Given the description of an element on the screen output the (x, y) to click on. 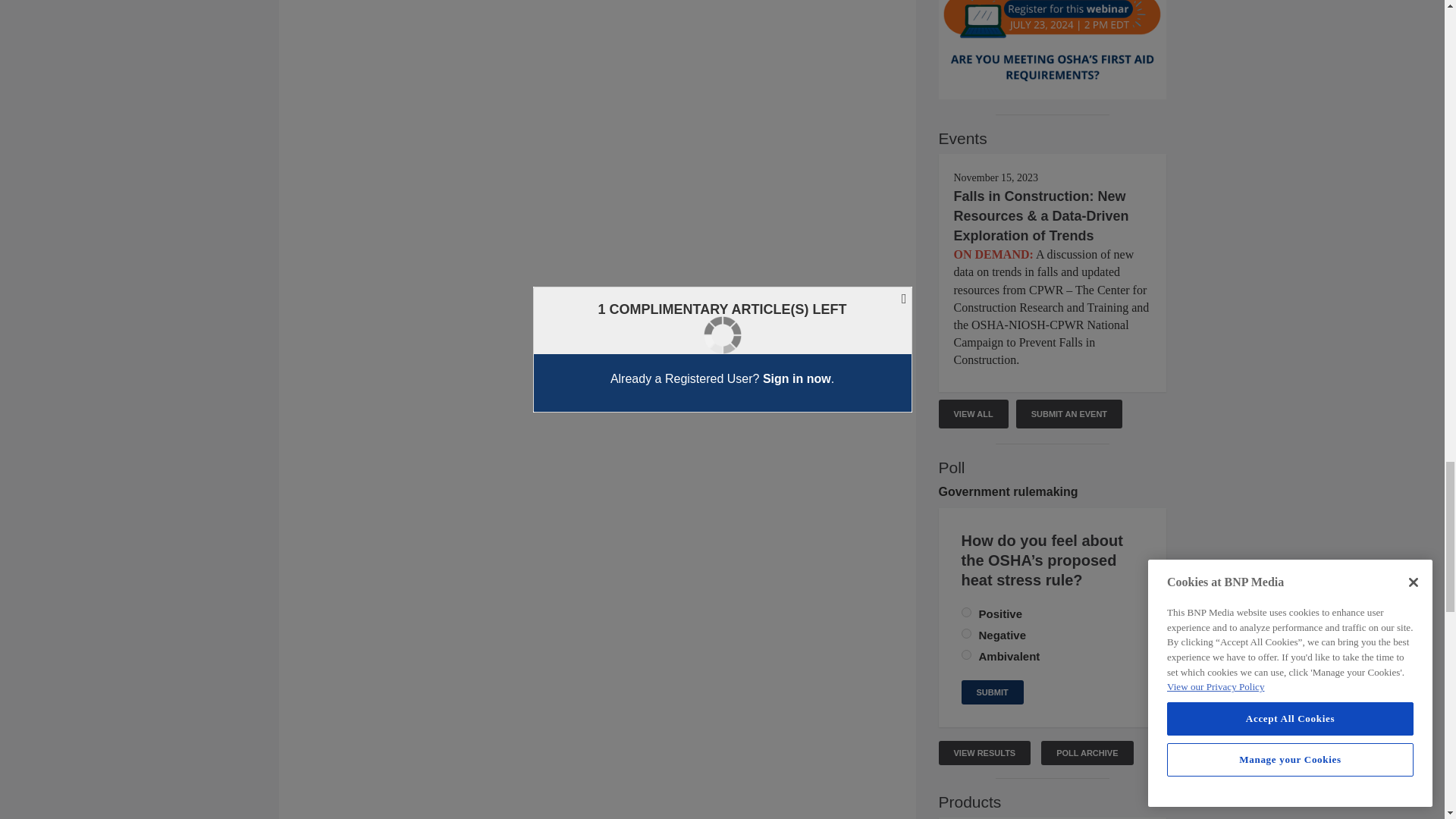
Submit (991, 692)
144 (965, 655)
142 (965, 612)
143 (965, 633)
